Given the description of an element on the screen output the (x, y) to click on. 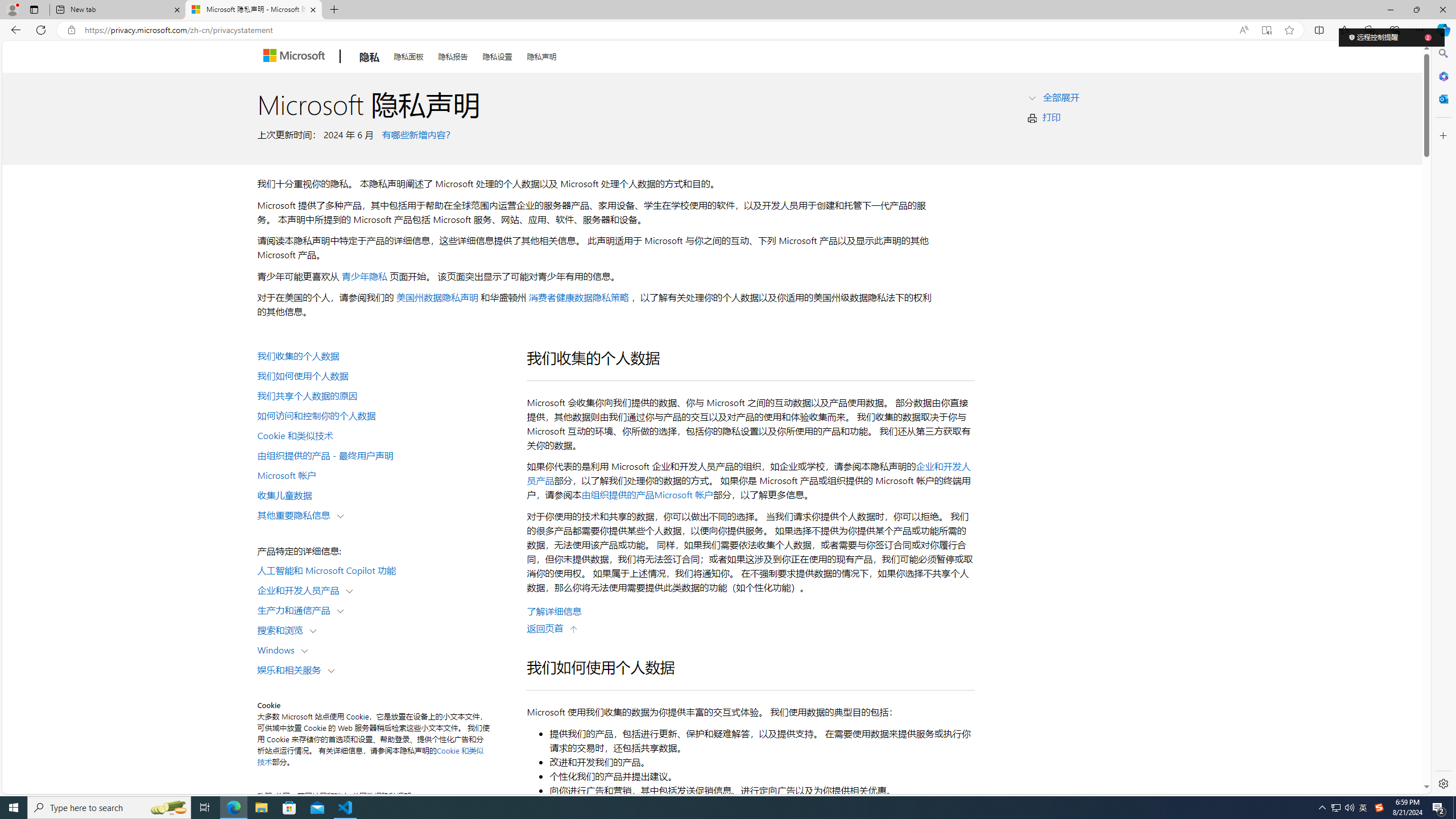
Windows (278, 649)
